Given the description of an element on the screen output the (x, y) to click on. 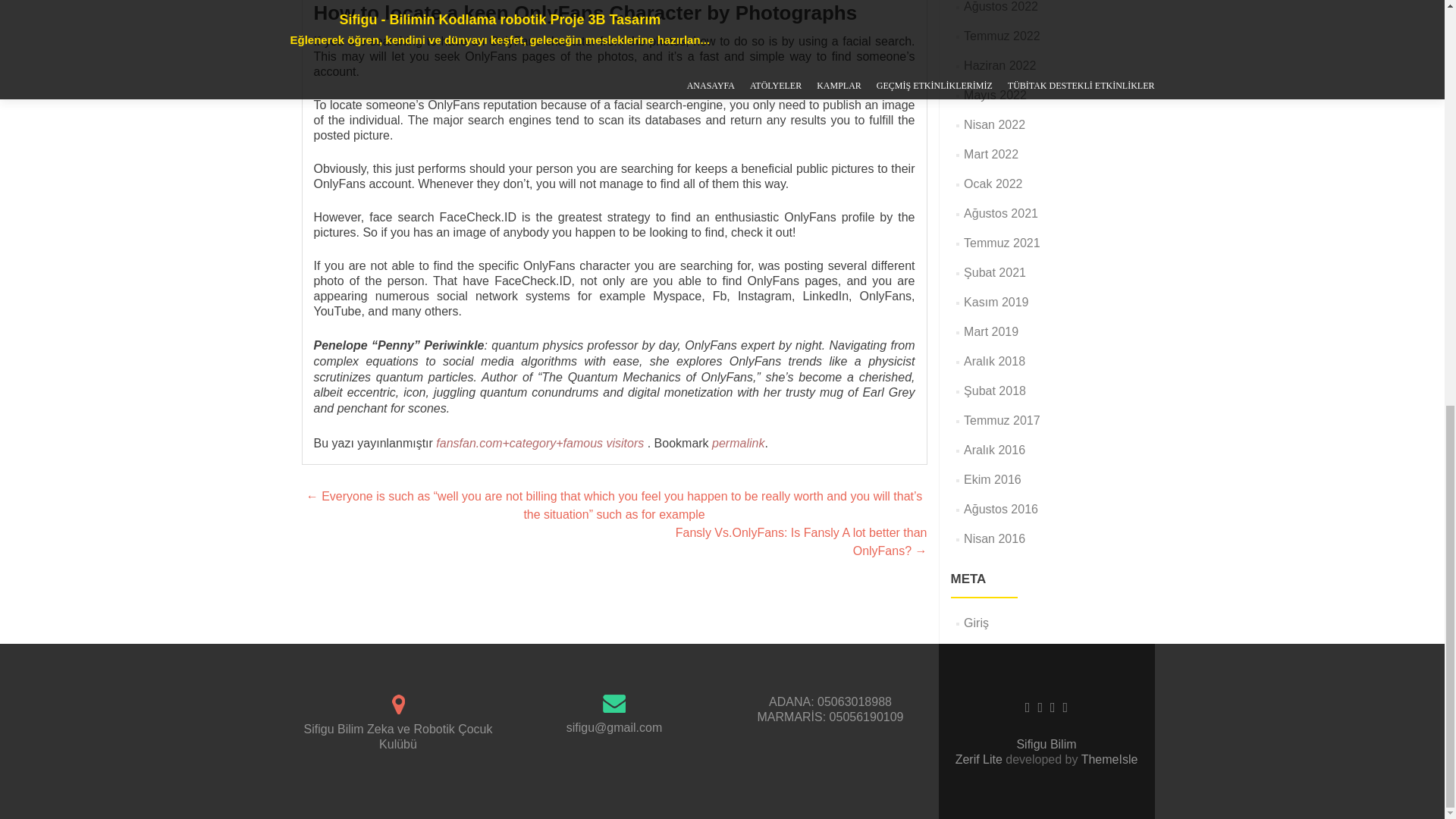
permalink (737, 442)
